Given the description of an element on the screen output the (x, y) to click on. 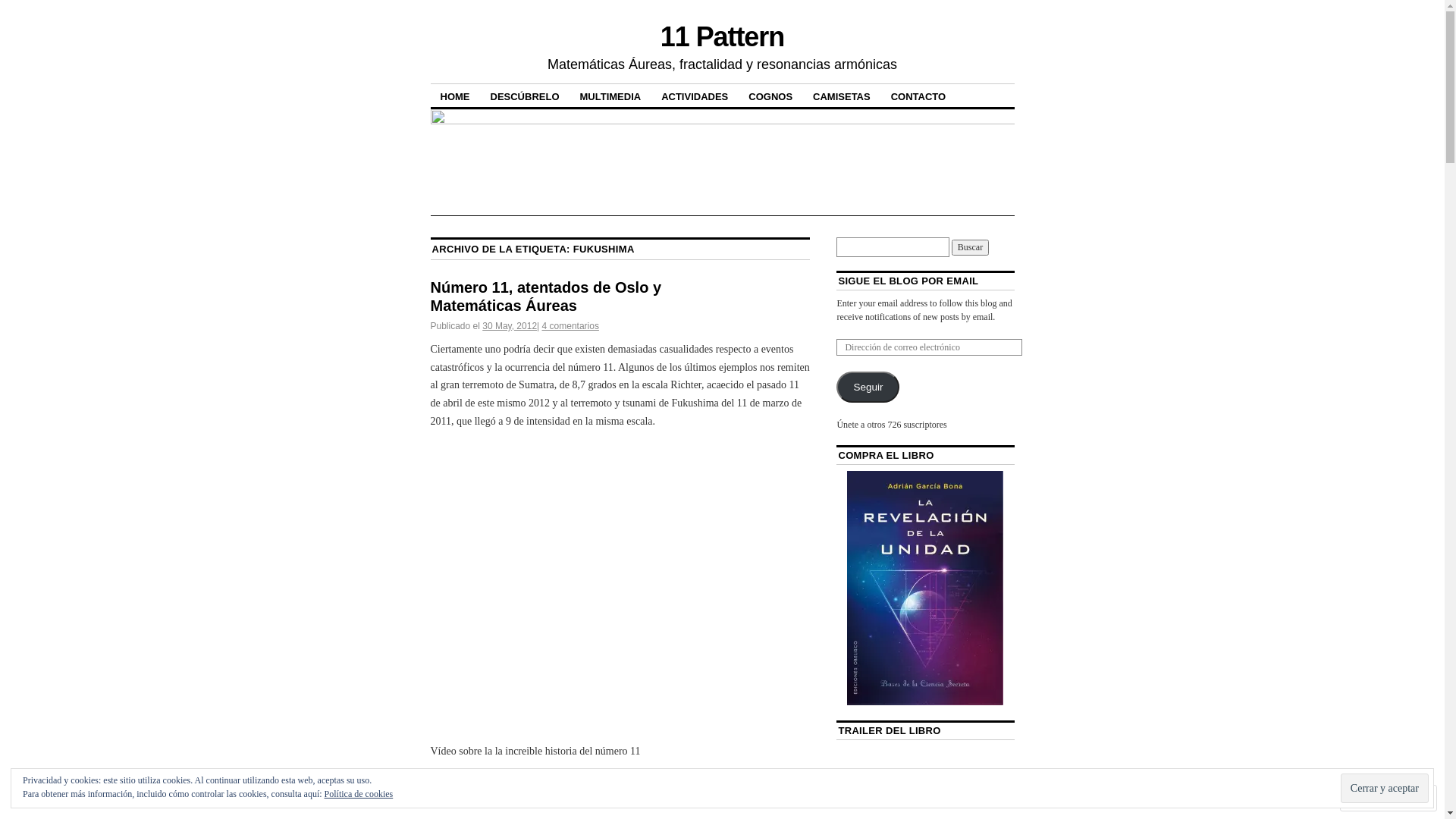
CAMISETAS Element type: text (841, 95)
HOME Element type: text (455, 95)
sumatra Element type: hover (619, 586)
4 comentarios Element type: text (570, 325)
ACTIVIDADES Element type: text (694, 95)
MULTIMEDIA Element type: text (610, 95)
11 Pattern Element type: text (722, 36)
Cerrar y aceptar Element type: text (1384, 788)
CONTACTO Element type: text (918, 95)
30 May, 2012 Element type: text (509, 325)
Buscar Element type: text (969, 247)
COGNOS Element type: text (770, 95)
Seguir Element type: text (1374, 797)
Seguir Element type: text (867, 386)
